Given the description of an element on the screen output the (x, y) to click on. 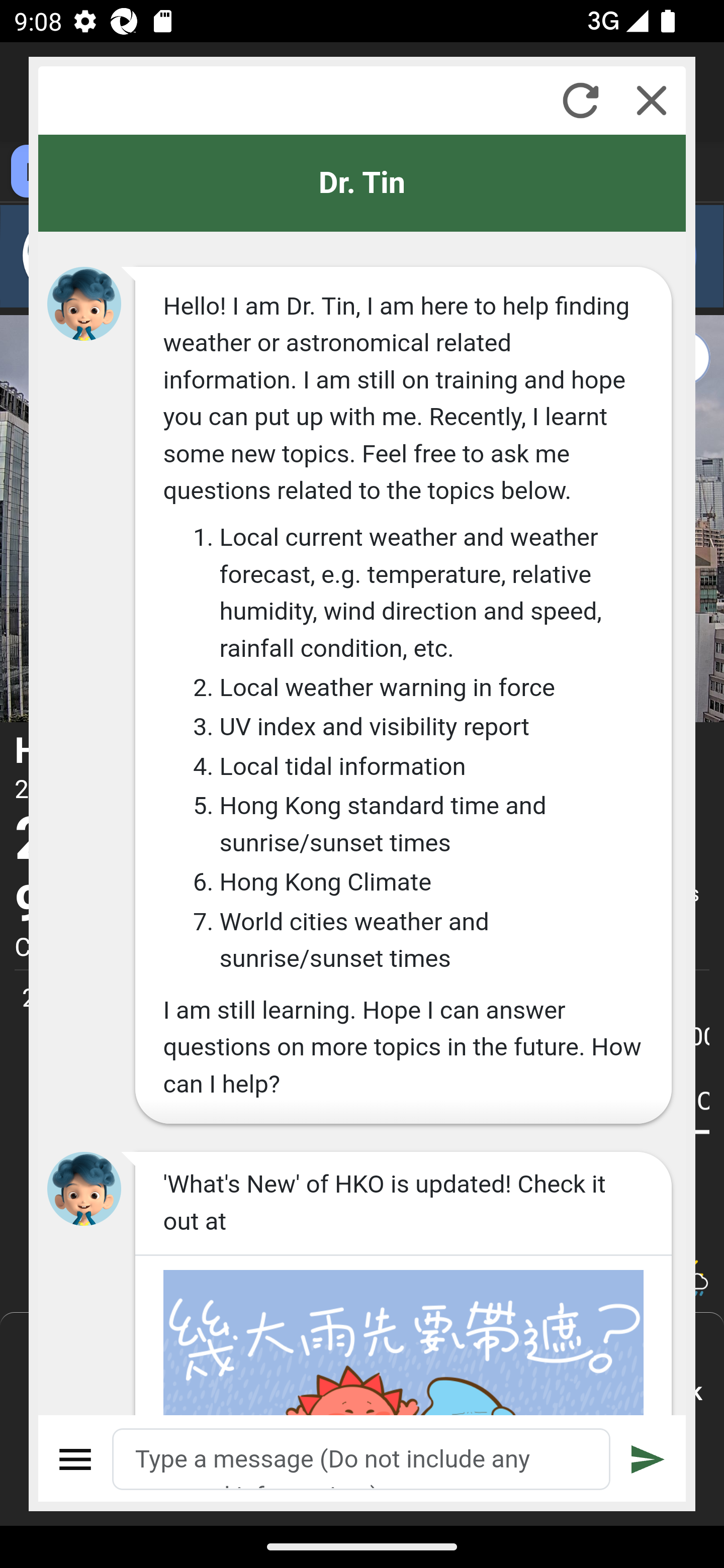
Refresh (580, 100)
Close (651, 100)
Menu (75, 1458)
Submit (648, 1458)
